Given the description of an element on the screen output the (x, y) to click on. 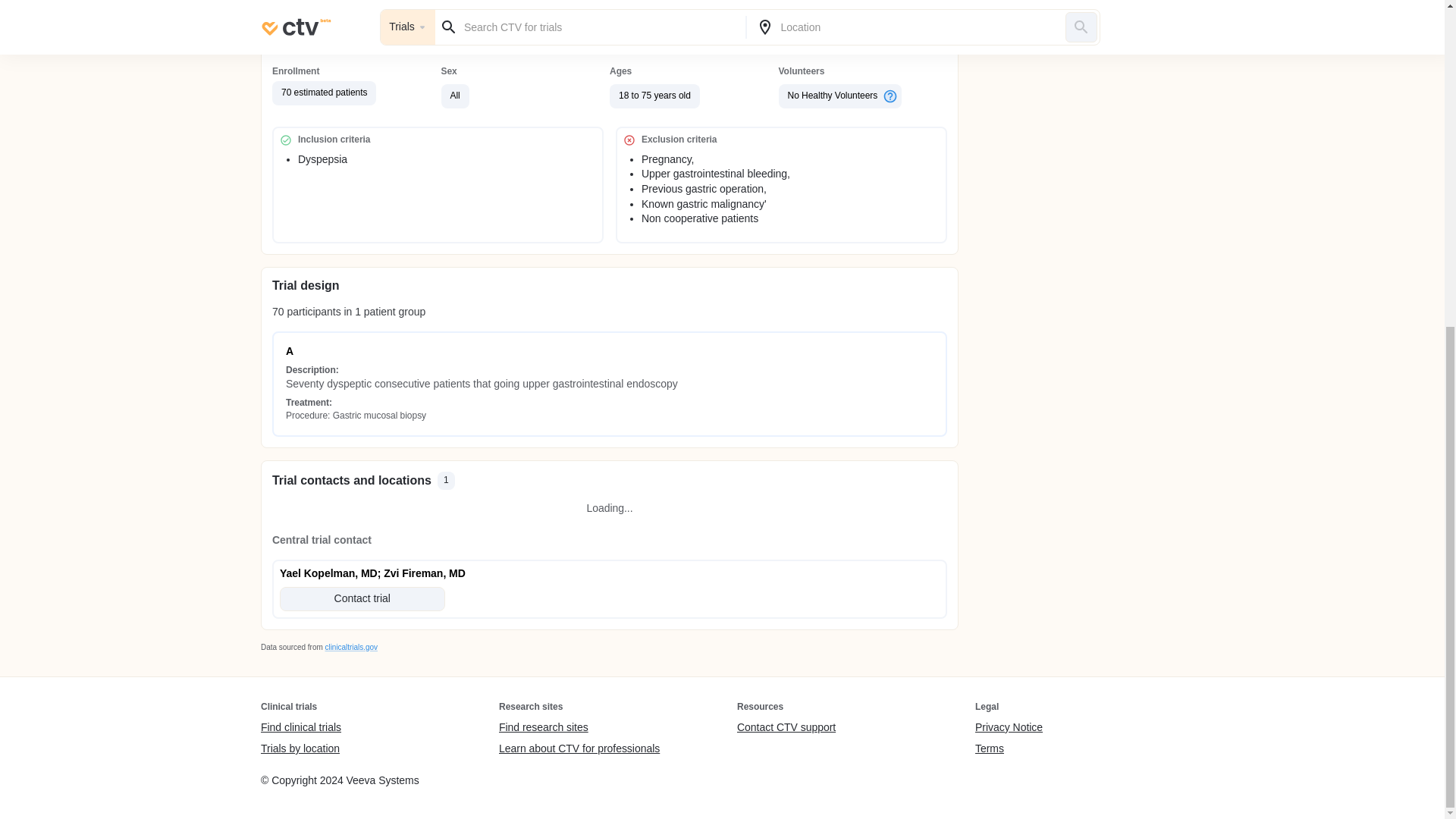
Privacy Notice (1008, 727)
clinicaltrials.gov (350, 646)
Trials by location (300, 748)
Learn about CTV for professionals (579, 748)
Find research sites (579, 727)
Contact trial (362, 598)
Contact CTV support (785, 727)
Find clinical trials (300, 727)
Terms (1008, 748)
